Given the description of an element on the screen output the (x, y) to click on. 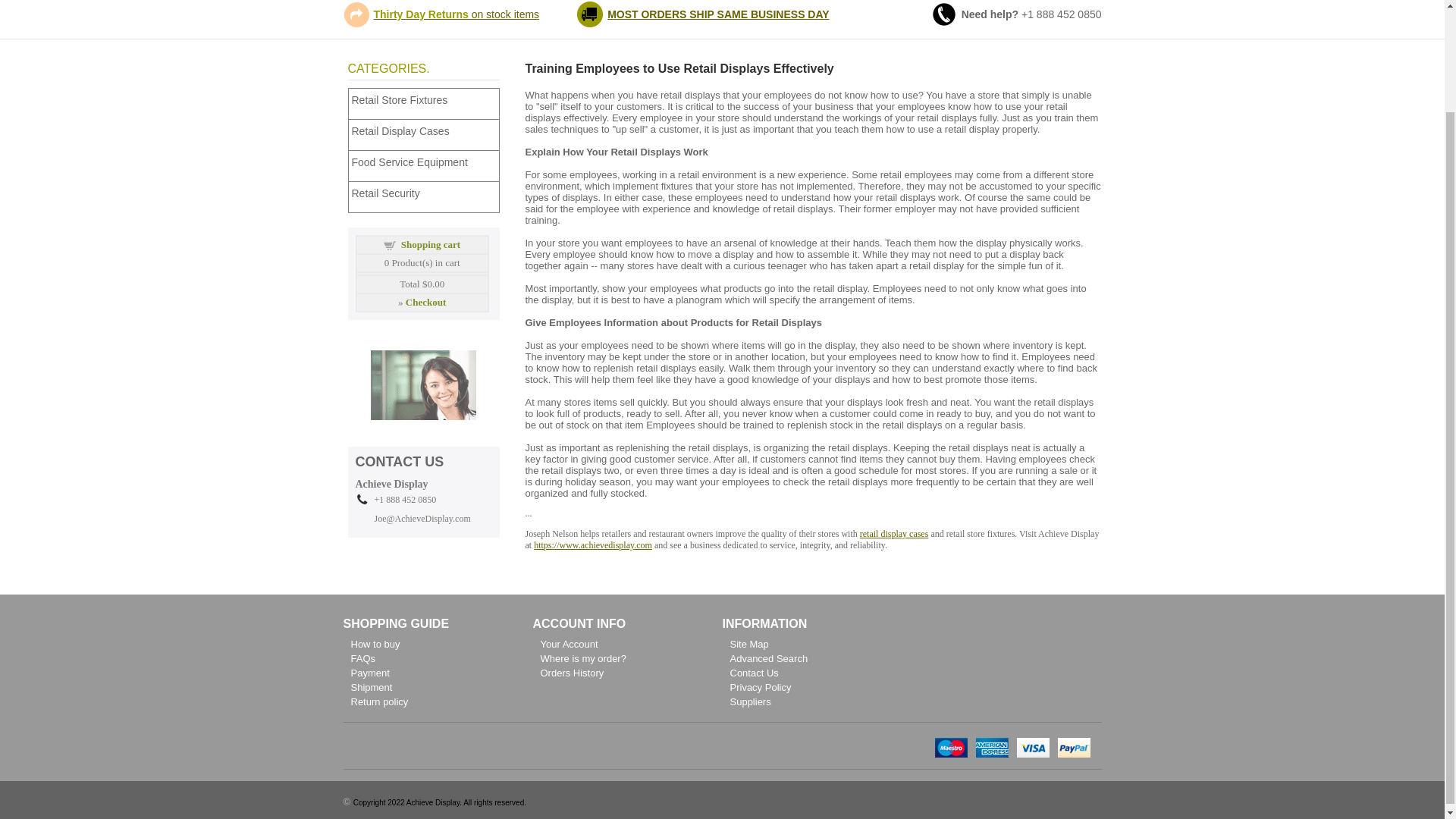
retail display cases (894, 533)
Retail Store Fixtures (427, 99)
Shipment (370, 686)
Food Service Equipment (427, 162)
MOST ORDERS SHIP SAME BUSINESS DAY (718, 14)
FAQs (362, 658)
Payment (369, 672)
Return policy (378, 701)
Retail Security (427, 193)
Thirty Day Returns on stock items (455, 14)
Where is my order? (583, 658)
How to buy (374, 644)
Retail Display Cases (427, 131)
